Given the description of an element on the screen output the (x, y) to click on. 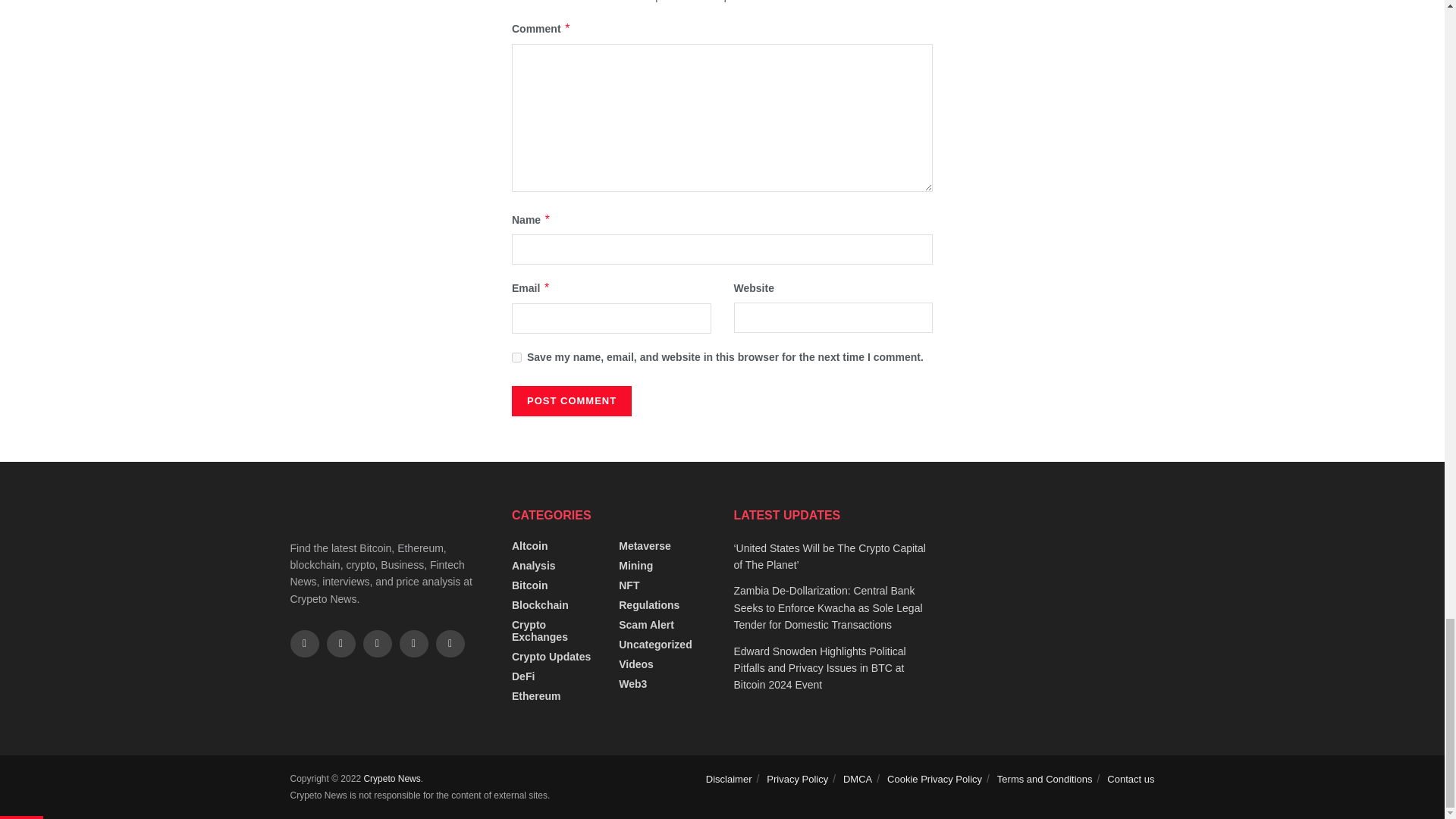
yes (516, 357)
Post Comment (571, 400)
